Given the description of an element on the screen output the (x, y) to click on. 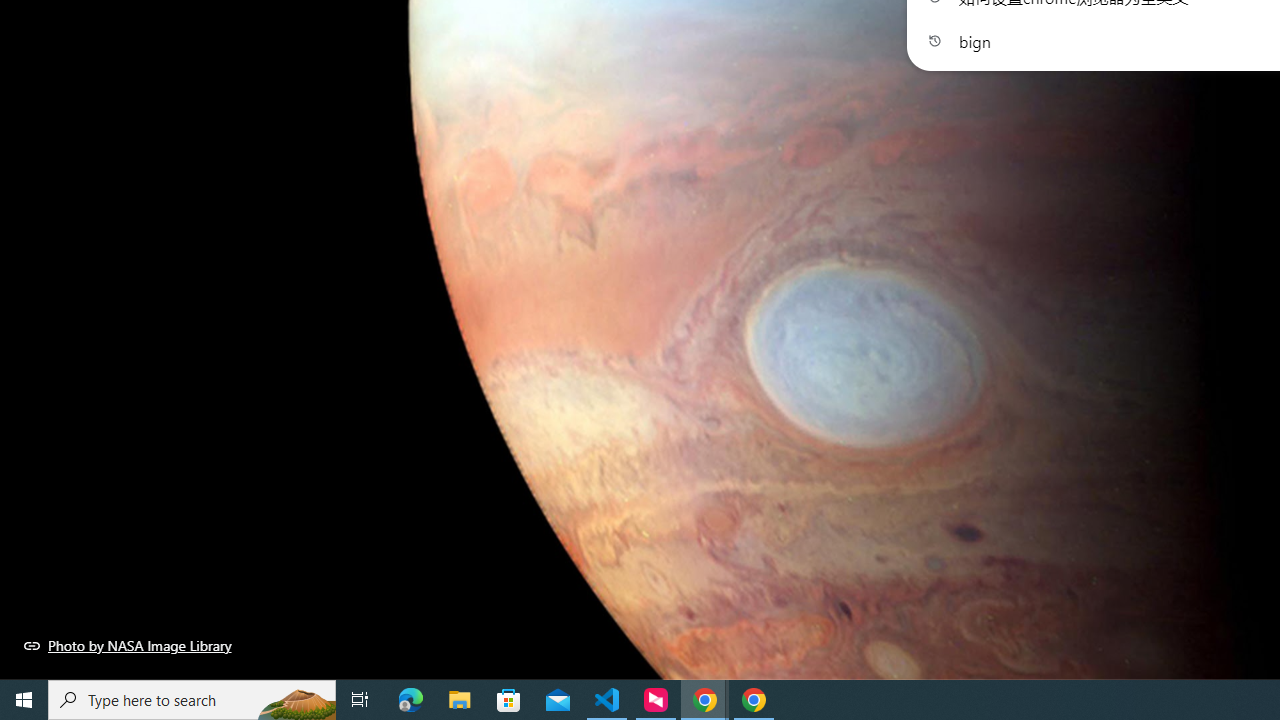
Photo by NASA Image Library (127, 645)
